Given the description of an element on the screen output the (x, y) to click on. 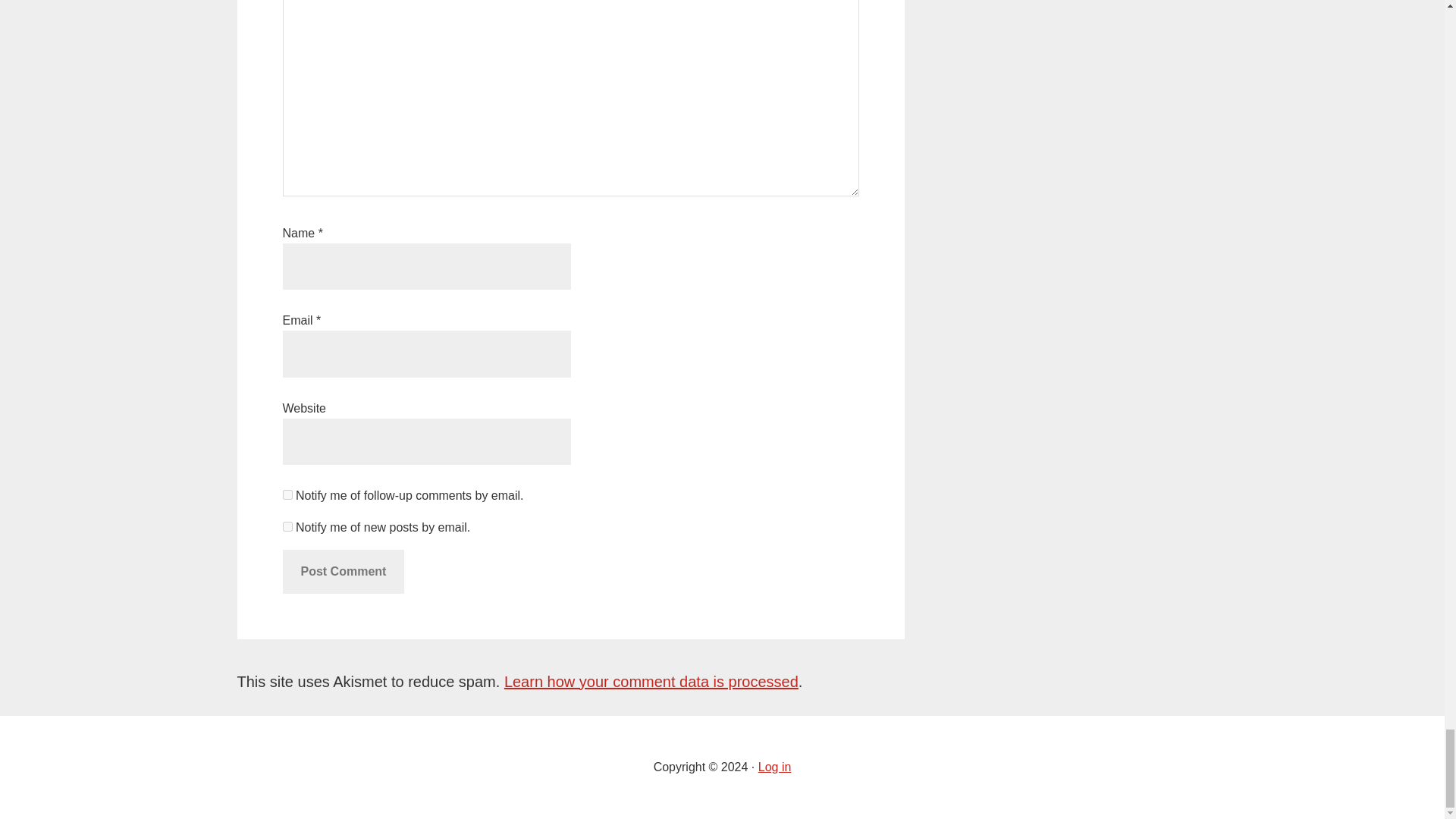
subscribe (287, 494)
subscribe (287, 526)
Post Comment (343, 571)
